Given the description of an element on the screen output the (x, y) to click on. 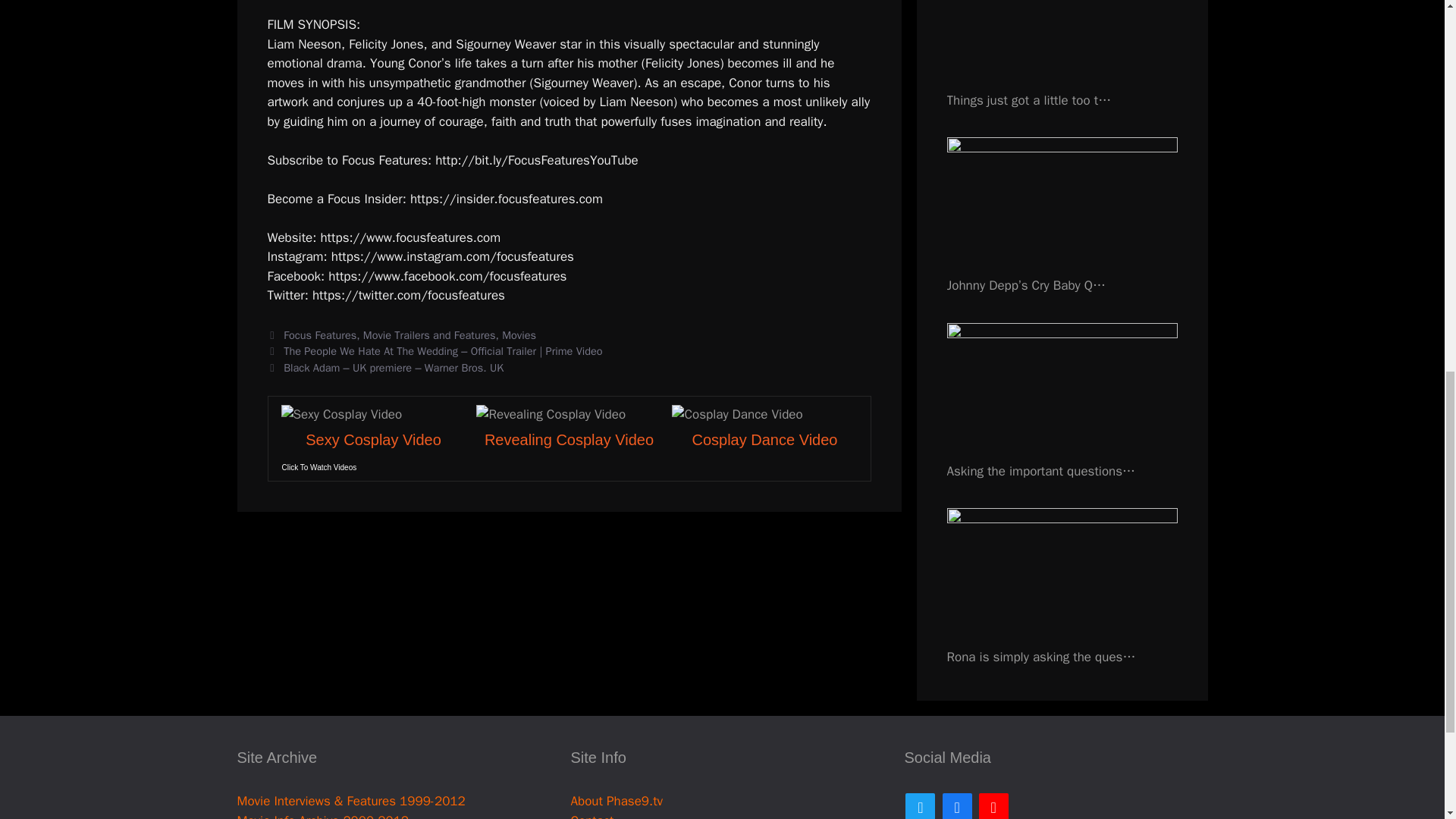
Sexy Cosplay Video (373, 439)
Movie Info Archive 2000-2012 (322, 816)
Cosplay Dance Video (764, 439)
Movie Trailers and Features (429, 335)
Focus Features (319, 335)
Movies (518, 335)
Revealing Cosplay Video (568, 439)
